Given the description of an element on the screen output the (x, y) to click on. 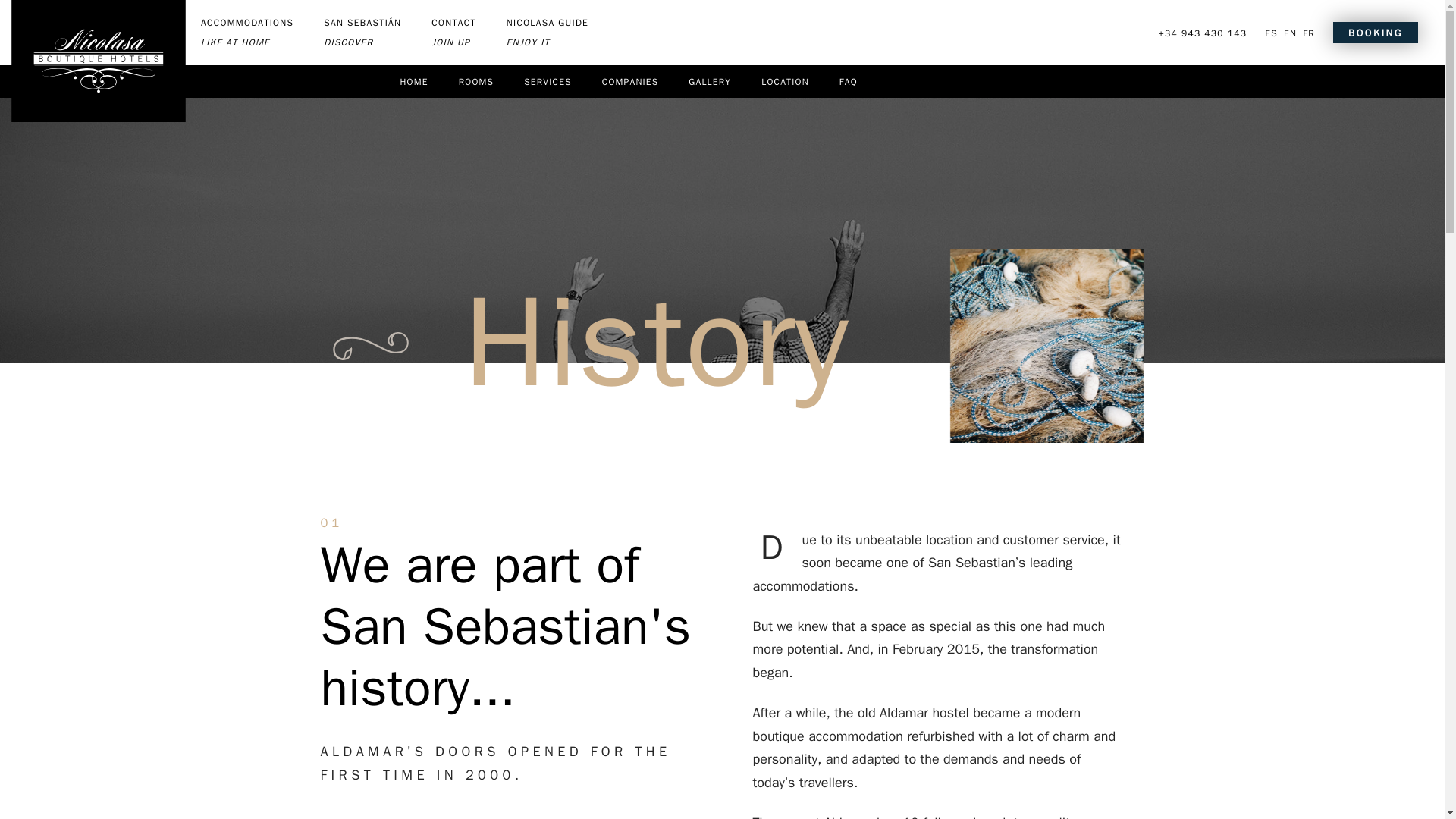
red-pesca (548, 32)
COMPANIES (1045, 346)
FAQ (630, 81)
LOCATION (848, 81)
HOME (784, 81)
GALLERY (414, 81)
ROOMS (247, 32)
deco-izq (708, 81)
